Given the description of an element on the screen output the (x, y) to click on. 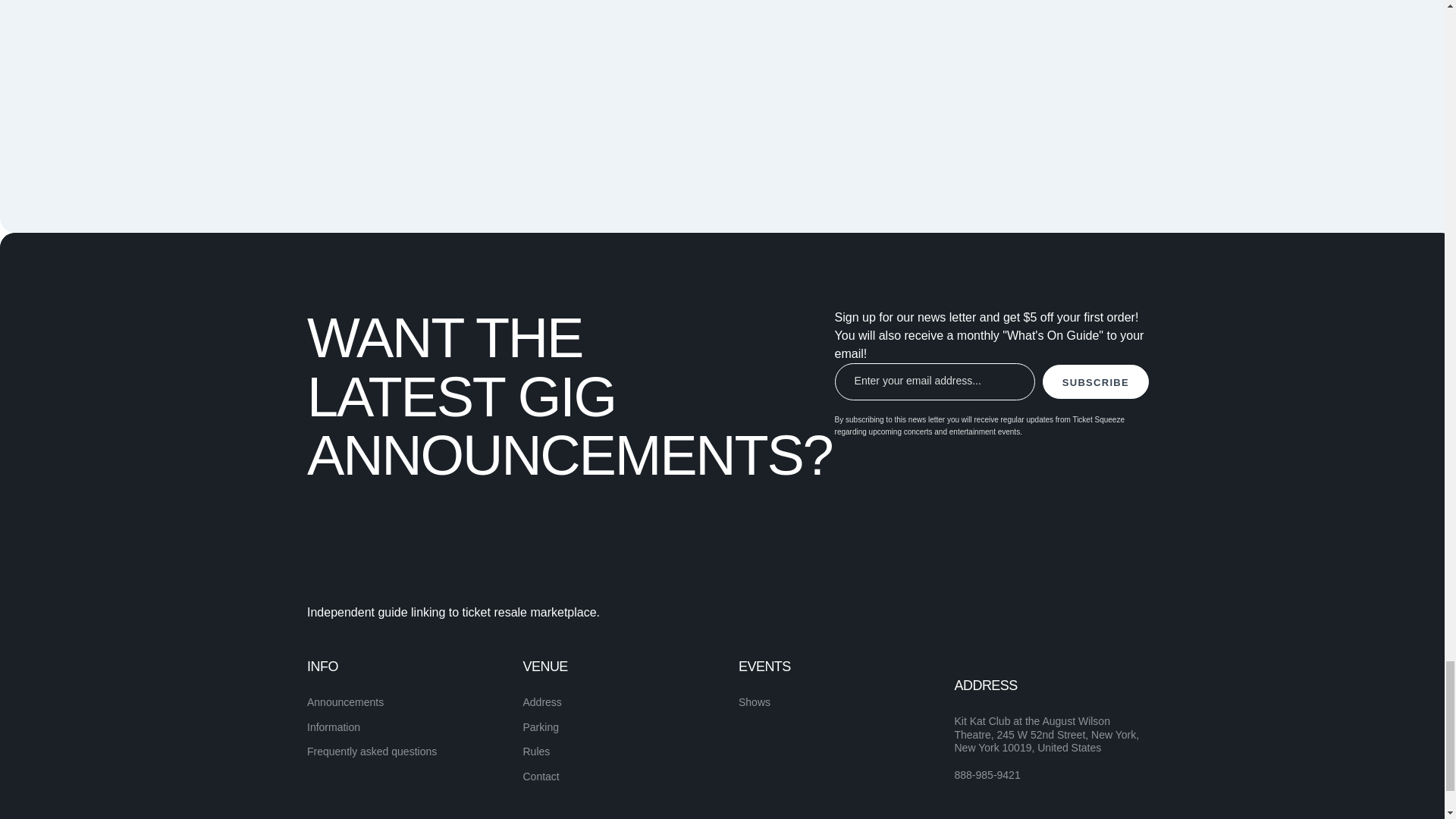
Shows (754, 702)
888-985-9421 (986, 775)
Contact (540, 776)
venue map (905, 70)
Rules (536, 751)
Address (542, 702)
Parking (540, 727)
Frequently asked questions (371, 751)
Information (333, 727)
SUBSCRIBE (1095, 381)
